Given the description of an element on the screen output the (x, y) to click on. 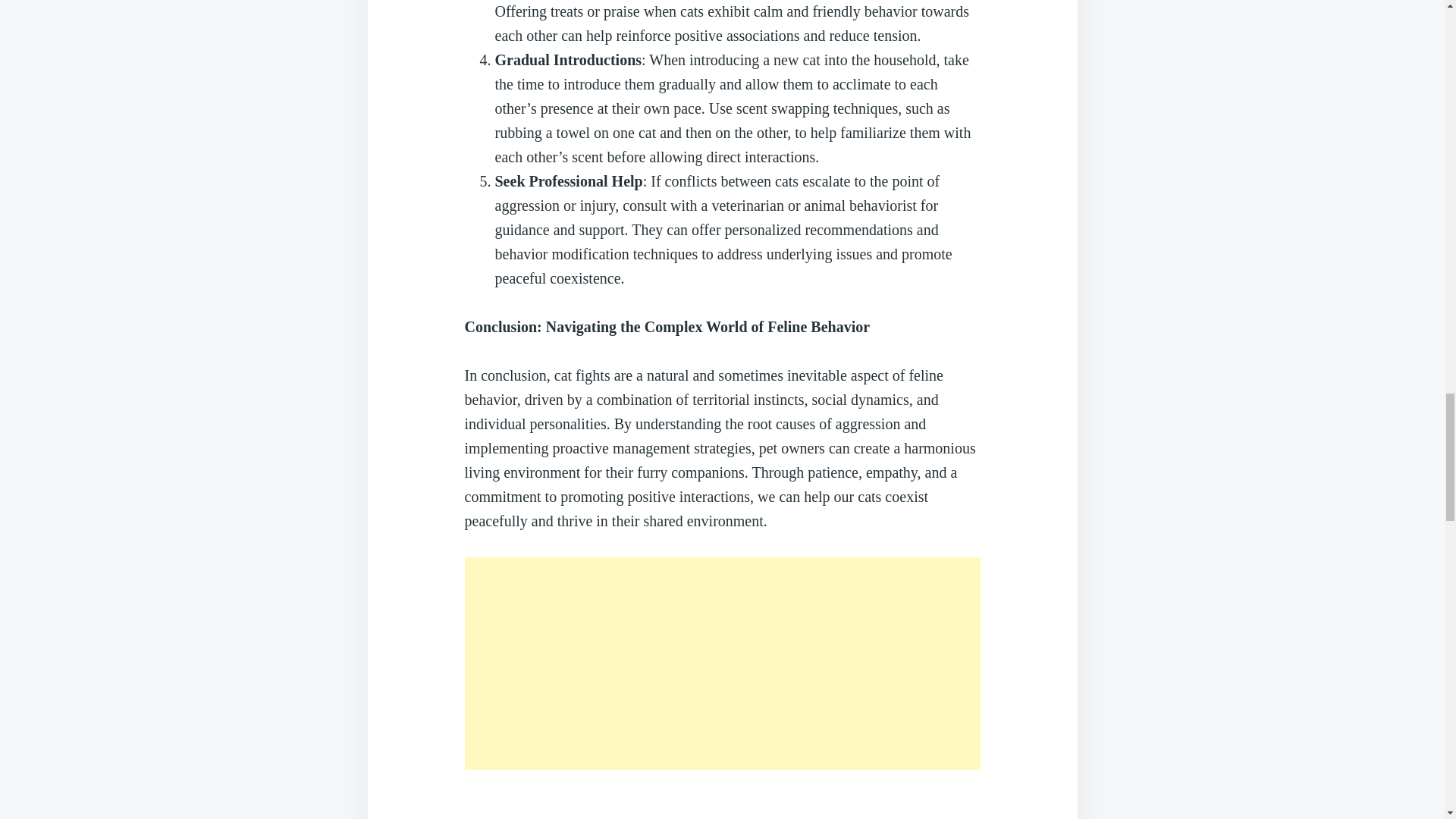
Advertisement (721, 663)
